Given the description of an element on the screen output the (x, y) to click on. 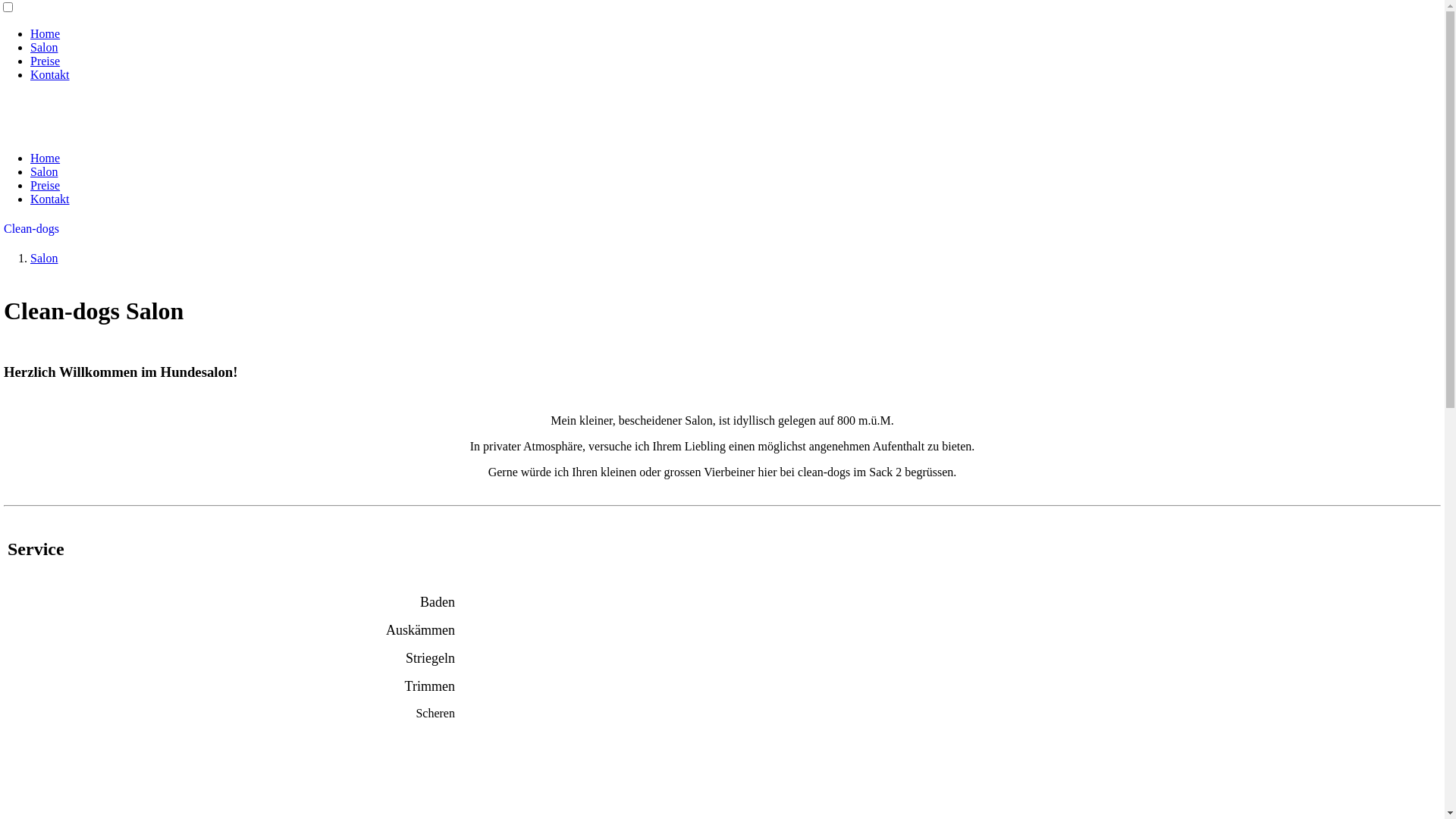
Home Element type: text (44, 33)
Kontakt Element type: text (49, 198)
Salon Element type: text (43, 171)
Home Element type: text (44, 157)
Kontakt Element type: text (49, 74)
Salon Element type: text (43, 46)
Clean-dogs Element type: text (31, 228)
Preise Element type: text (44, 60)
Salon Element type: text (43, 257)
Preise Element type: text (44, 184)
